Given the description of an element on the screen output the (x, y) to click on. 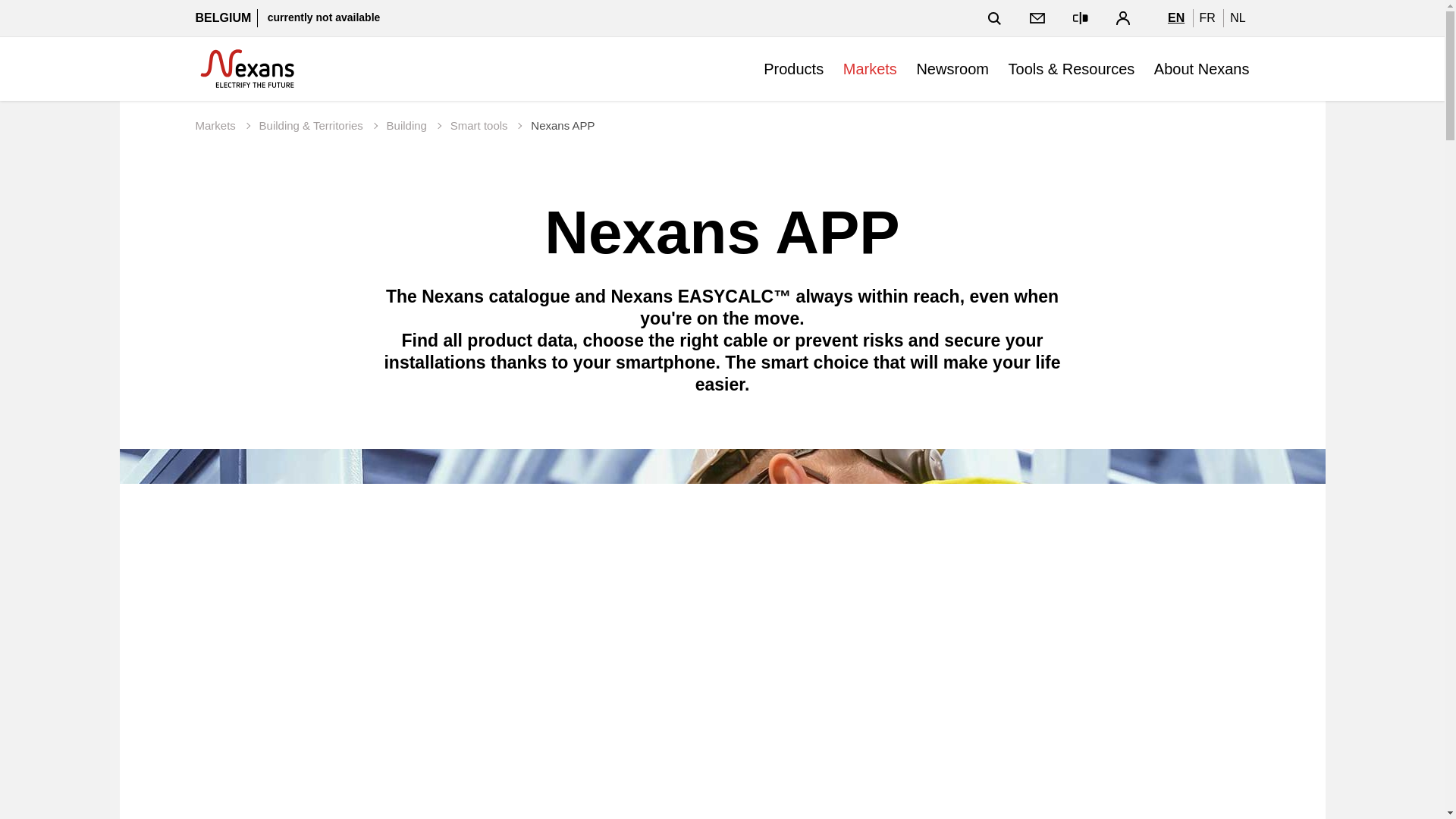
FR (1206, 18)
Sign in (1122, 17)
Search (994, 17)
Contact us (1037, 17)
currently not available (323, 16)
Contact us (1037, 17)
EN (1174, 18)
Compare (1080, 18)
Compare (1080, 18)
Search (994, 18)
